Given the description of an element on the screen output the (x, y) to click on. 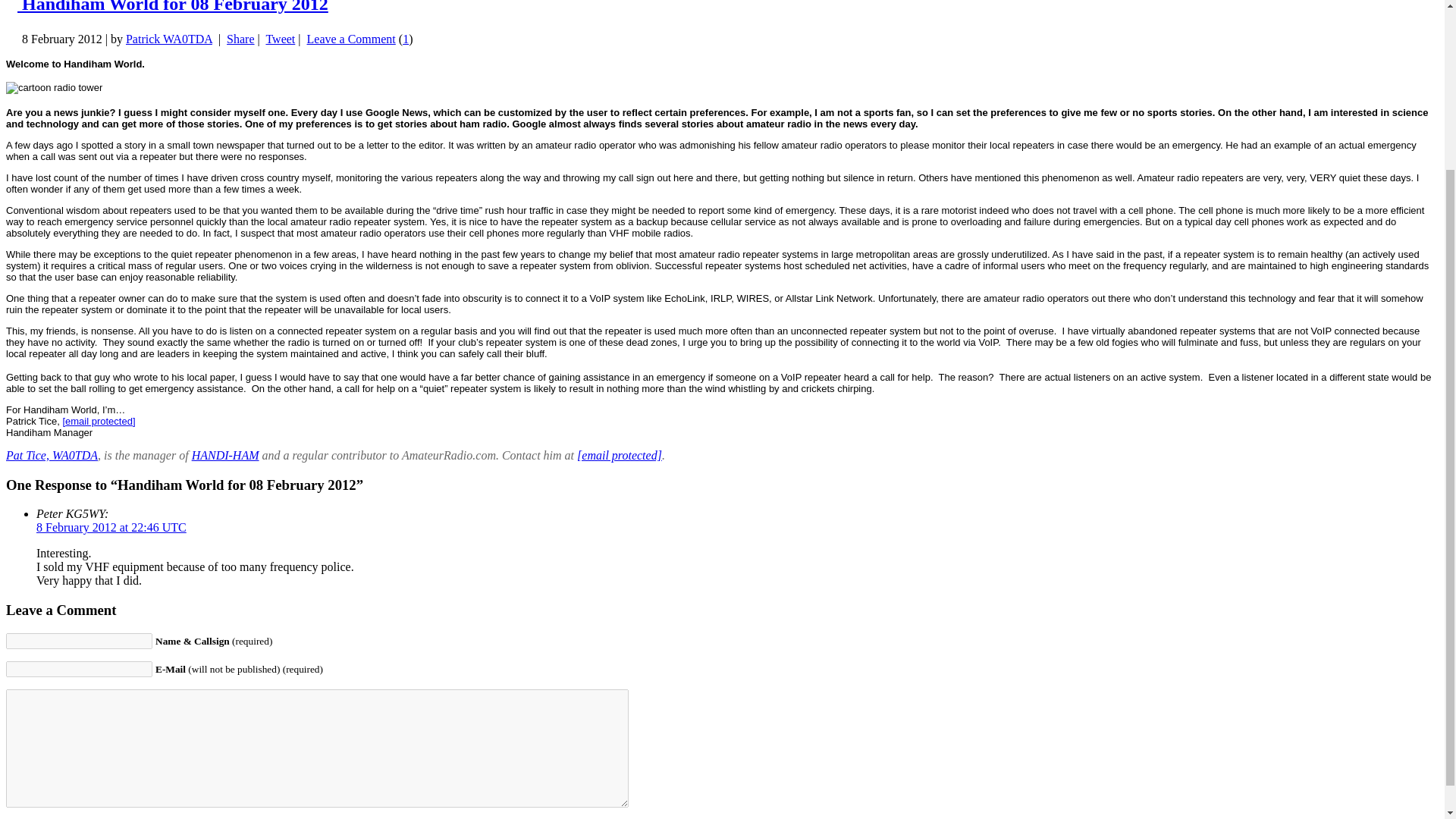
Patrick WA0TDA (168, 38)
Tweet (279, 38)
HANDI-HAM (225, 454)
Handiham World for 08 February 2012 (173, 6)
Leave a Comment (351, 38)
Pat Tice, WA0TDA (51, 454)
8 February 2012 at 22:46 UTC (111, 526)
Share (240, 38)
Handiham World for 08 February 2012 (173, 6)
